Given the description of an element on the screen output the (x, y) to click on. 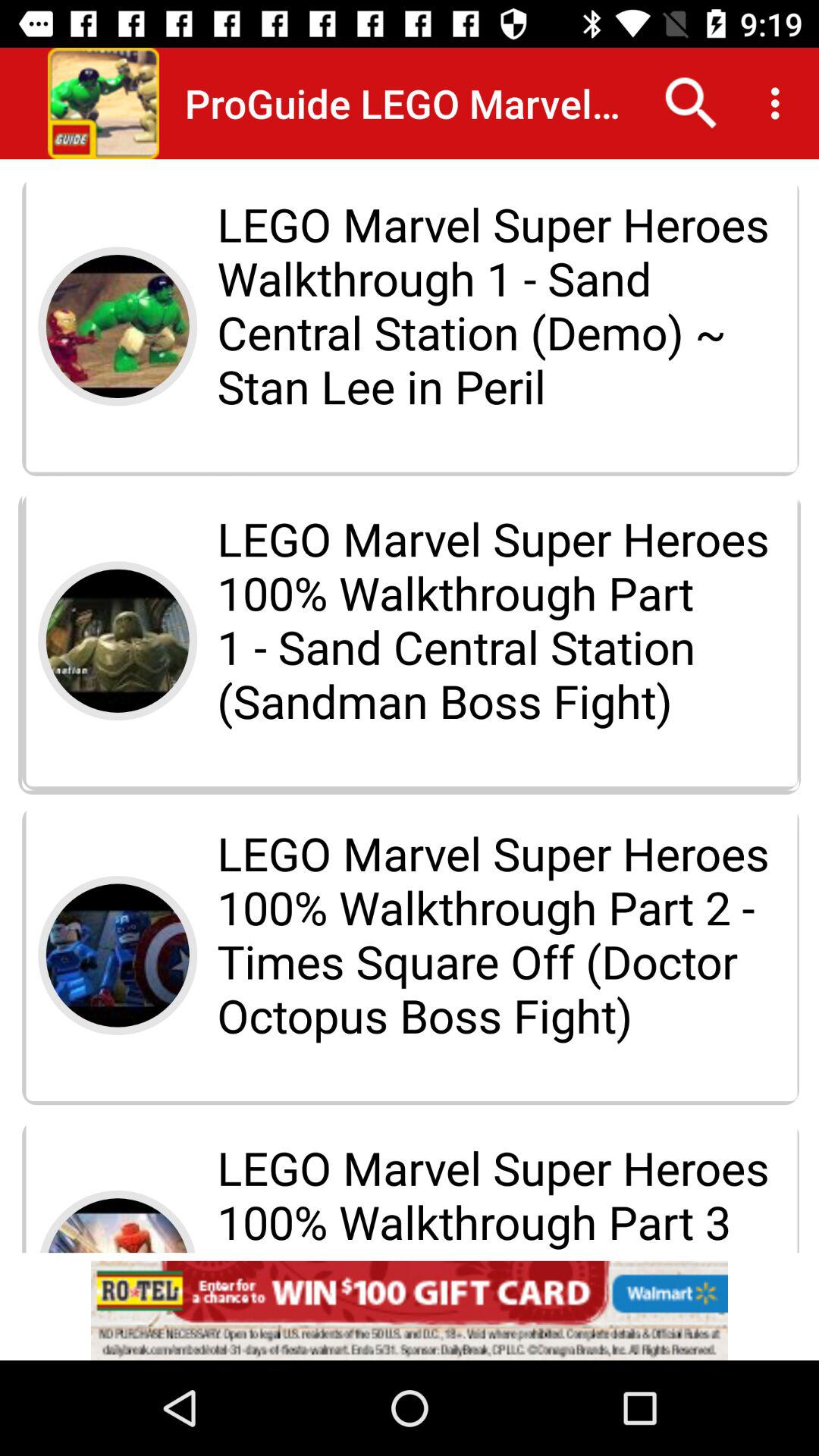
click advertisement (409, 1310)
